Given the description of an element on the screen output the (x, y) to click on. 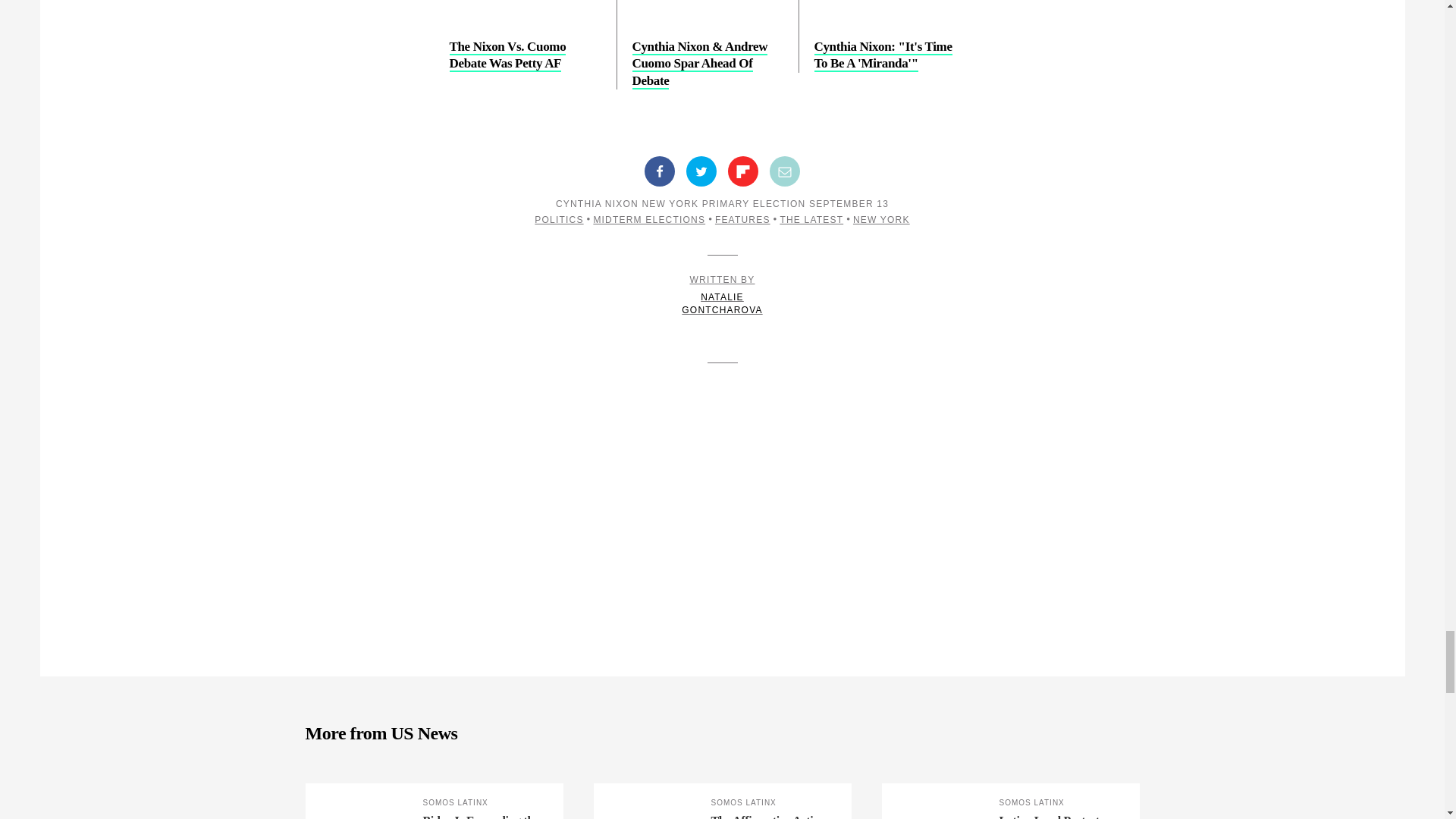
Share by Email (784, 171)
Share on Flipboard (743, 171)
Share on Twitter (700, 171)
